Given the description of an element on the screen output the (x, y) to click on. 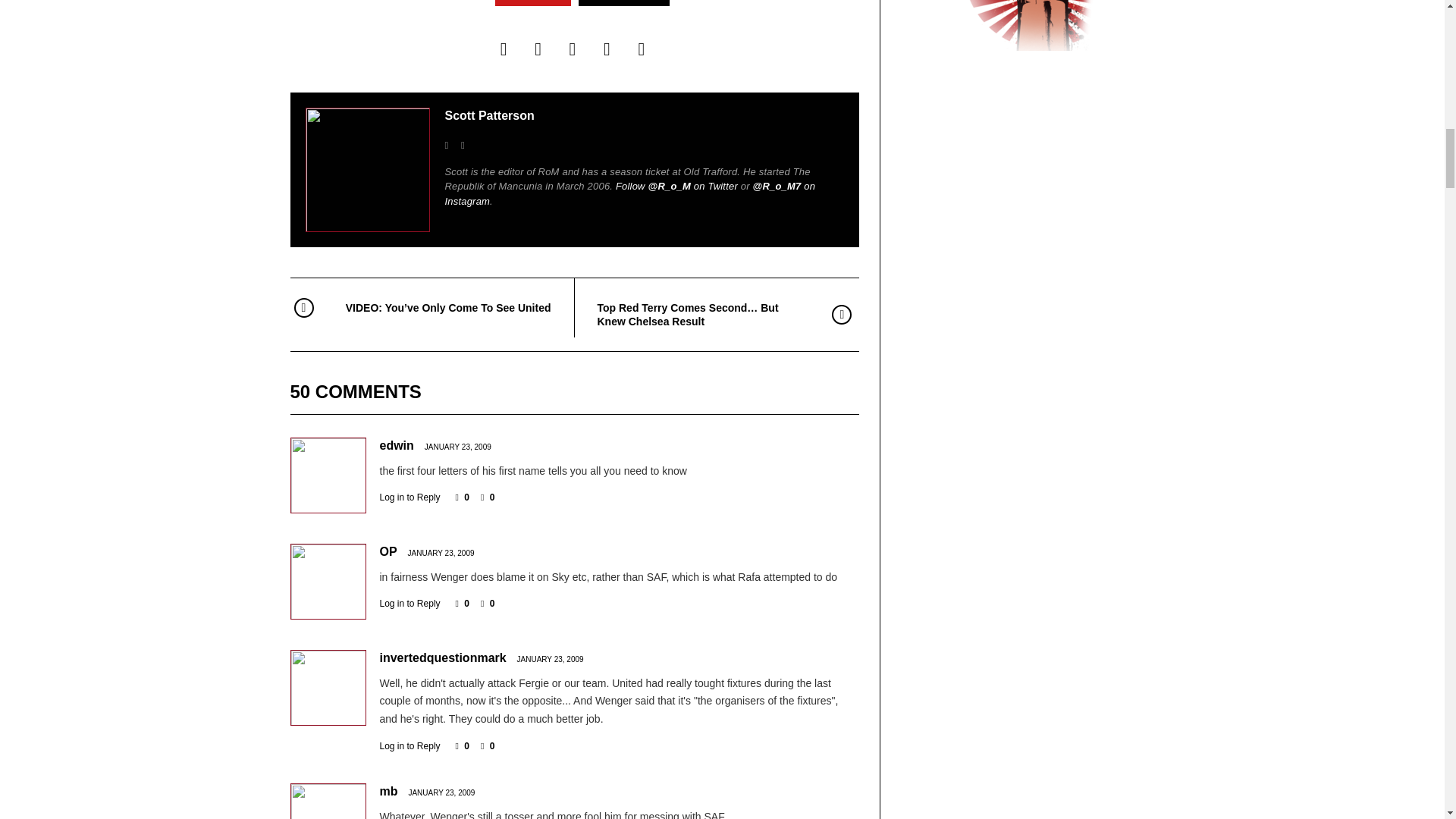
0 (487, 497)
JANUARY 23, 2009 (458, 447)
VOTE UP (532, 2)
JANUARY 23, 2009 (440, 552)
Scott Patterson (489, 115)
0 (461, 497)
Log in to Reply (408, 497)
0 (461, 603)
Log in to Reply (408, 603)
0 (487, 603)
